Given the description of an element on the screen output the (x, y) to click on. 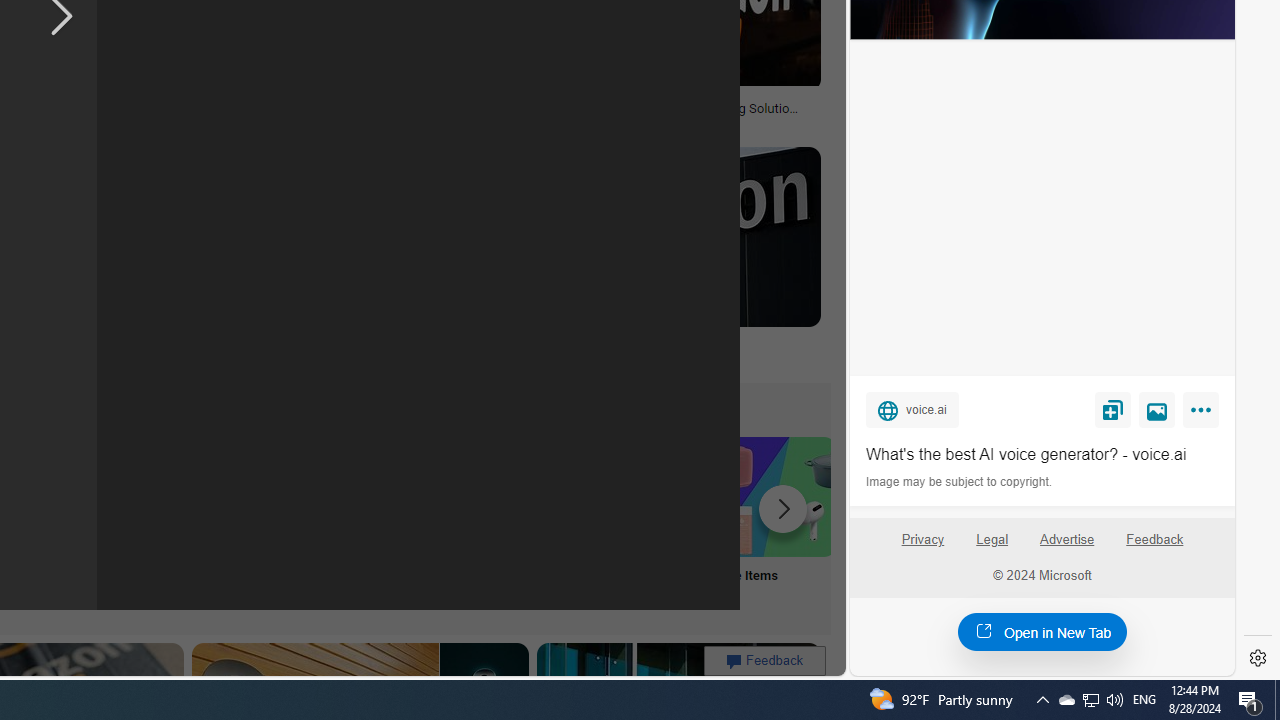
View image (1157, 409)
Amazon Mini TV (116, 496)
Prime Shopping Online (380, 521)
Amazon Prime Shopping Online Prime Shopping Online (380, 521)
Amazon Sale Items Sale Items (775, 521)
Advertise (1067, 547)
Amazon Prime Label (511, 496)
Open in New Tab (1042, 631)
Legal (991, 539)
Advertise (1066, 539)
voice.ai (912, 409)
Privacy (922, 539)
protothema.gr (554, 358)
